Given the description of an element on the screen output the (x, y) to click on. 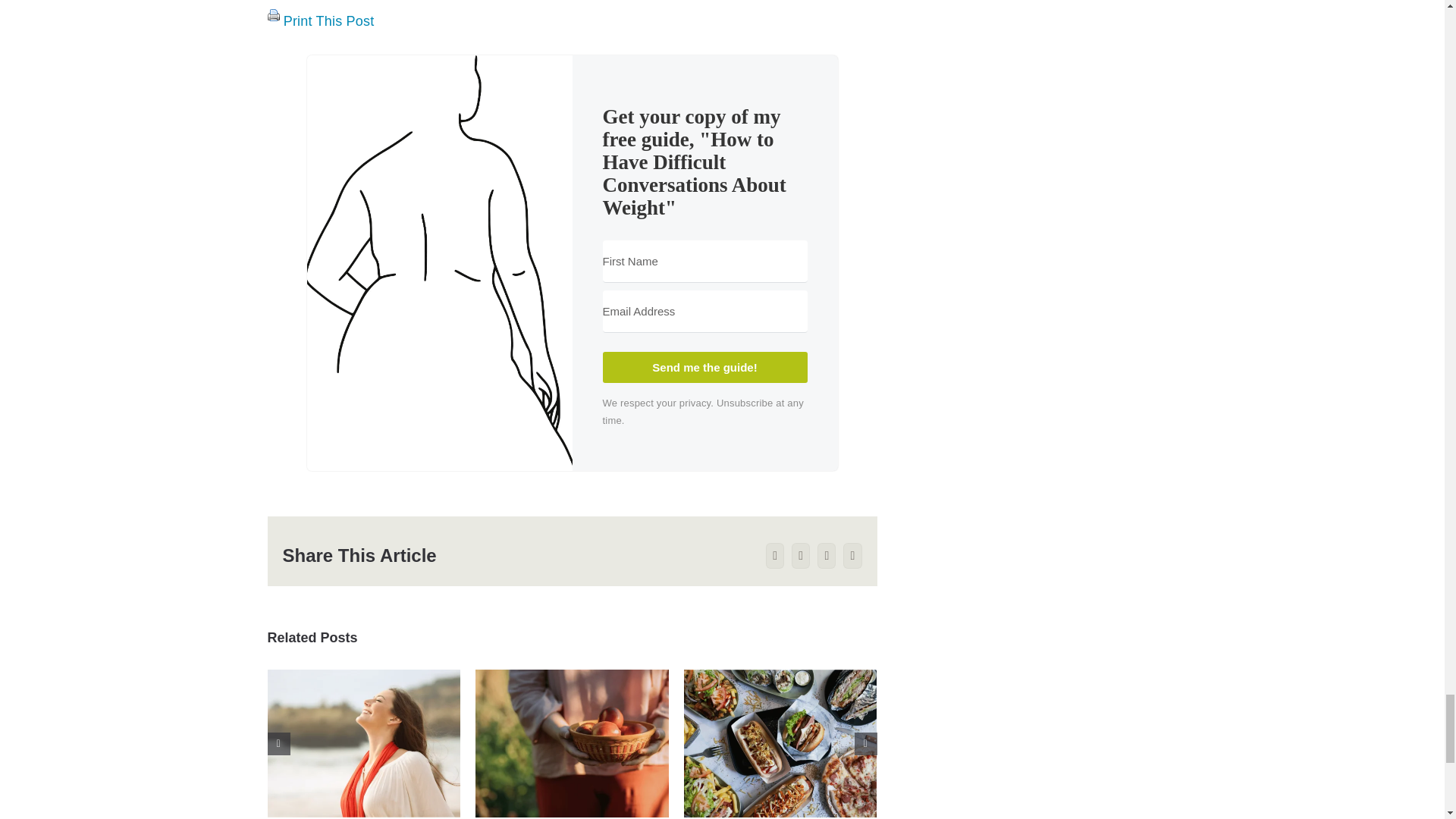
Print This Post (328, 20)
Print This Post (272, 15)
Send me the guide! (704, 367)
Print This Post (328, 20)
